Given the description of an element on the screen output the (x, y) to click on. 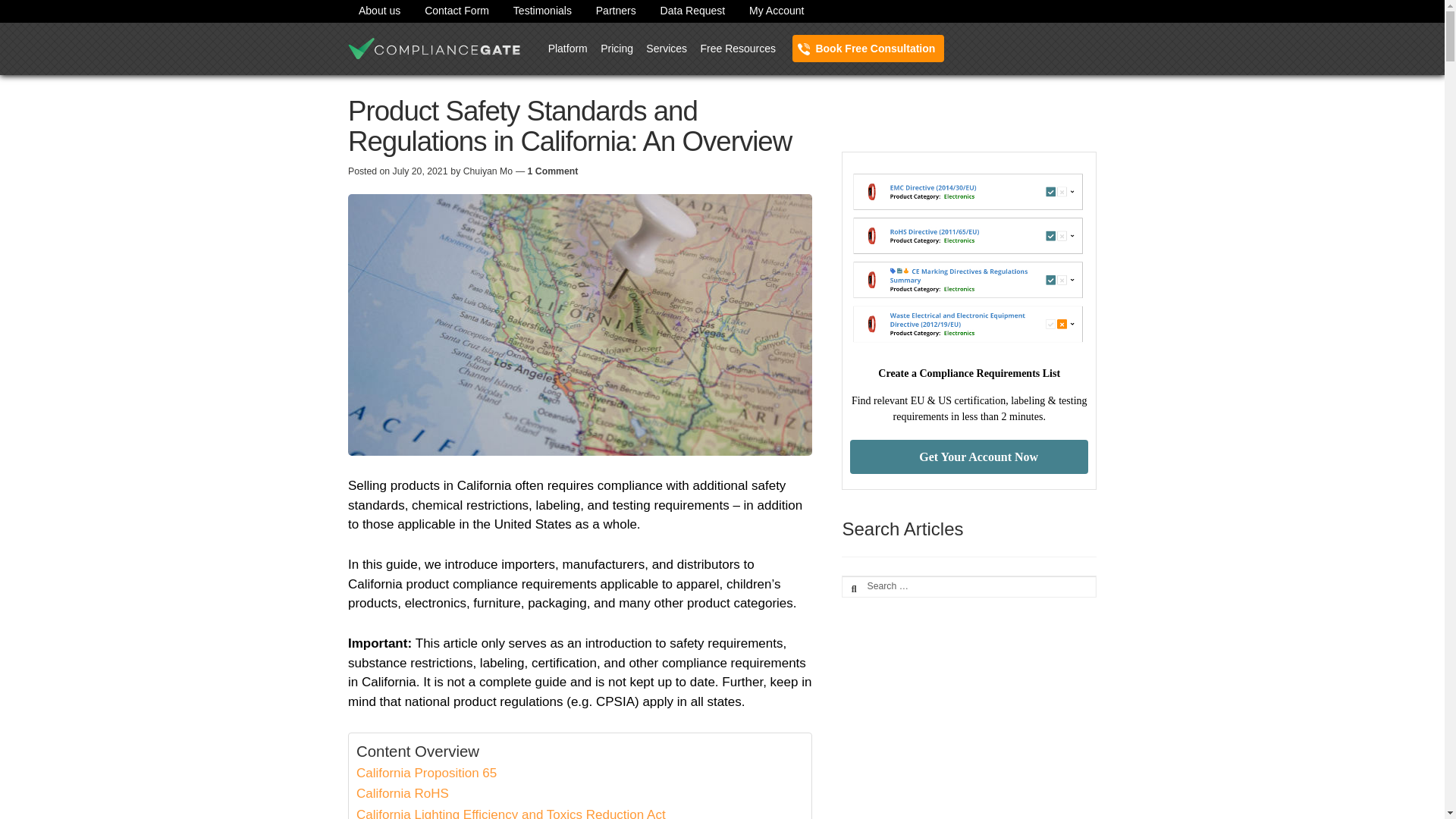
Testimonials (542, 11)
Pricing (617, 45)
Platform (567, 45)
Free Resources (737, 45)
Services (666, 45)
Contact Form (456, 11)
Data Request (692, 11)
My Account (775, 11)
Partners (615, 11)
